Given the description of an element on the screen output the (x, y) to click on. 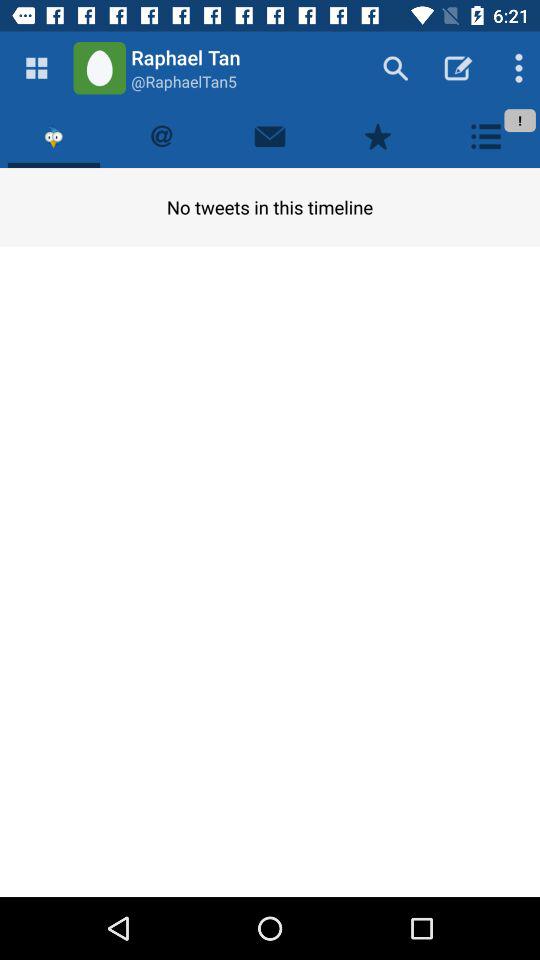
press icon below the @raphaeltan5 item (270, 136)
